Given the description of an element on the screen output the (x, y) to click on. 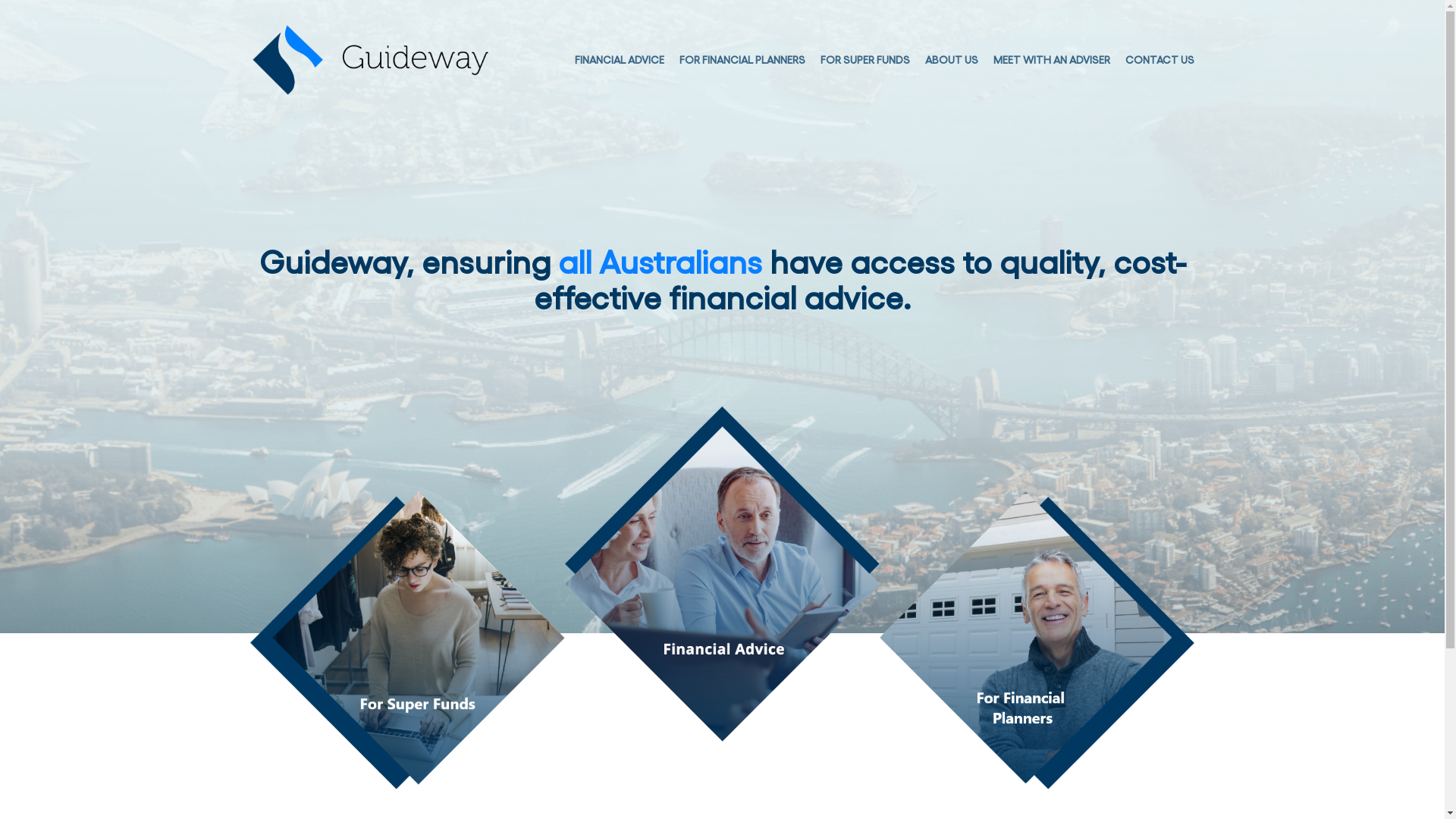
FOR SUPER FUNDS Element type: text (865, 58)
ABOUT US Element type: text (951, 58)
FINANCIAL ADVICE Element type: text (619, 58)
MEET WITH AN ADVISER Element type: text (1051, 58)
FOR FINANCIAL PLANNERS Element type: text (742, 58)
CONTACT US Element type: text (1159, 58)
